Given the description of an element on the screen output the (x, y) to click on. 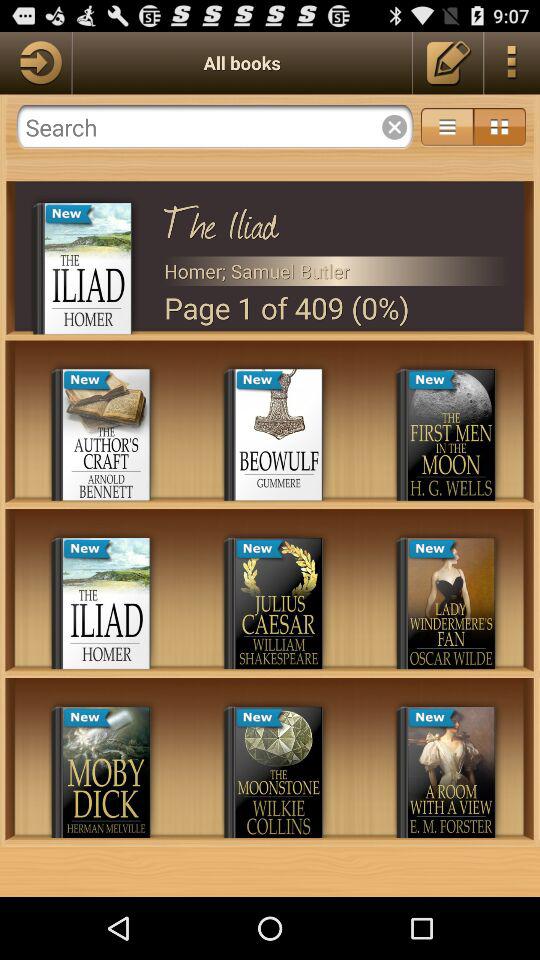
more options (447, 127)
